Given the description of an element on the screen output the (x, y) to click on. 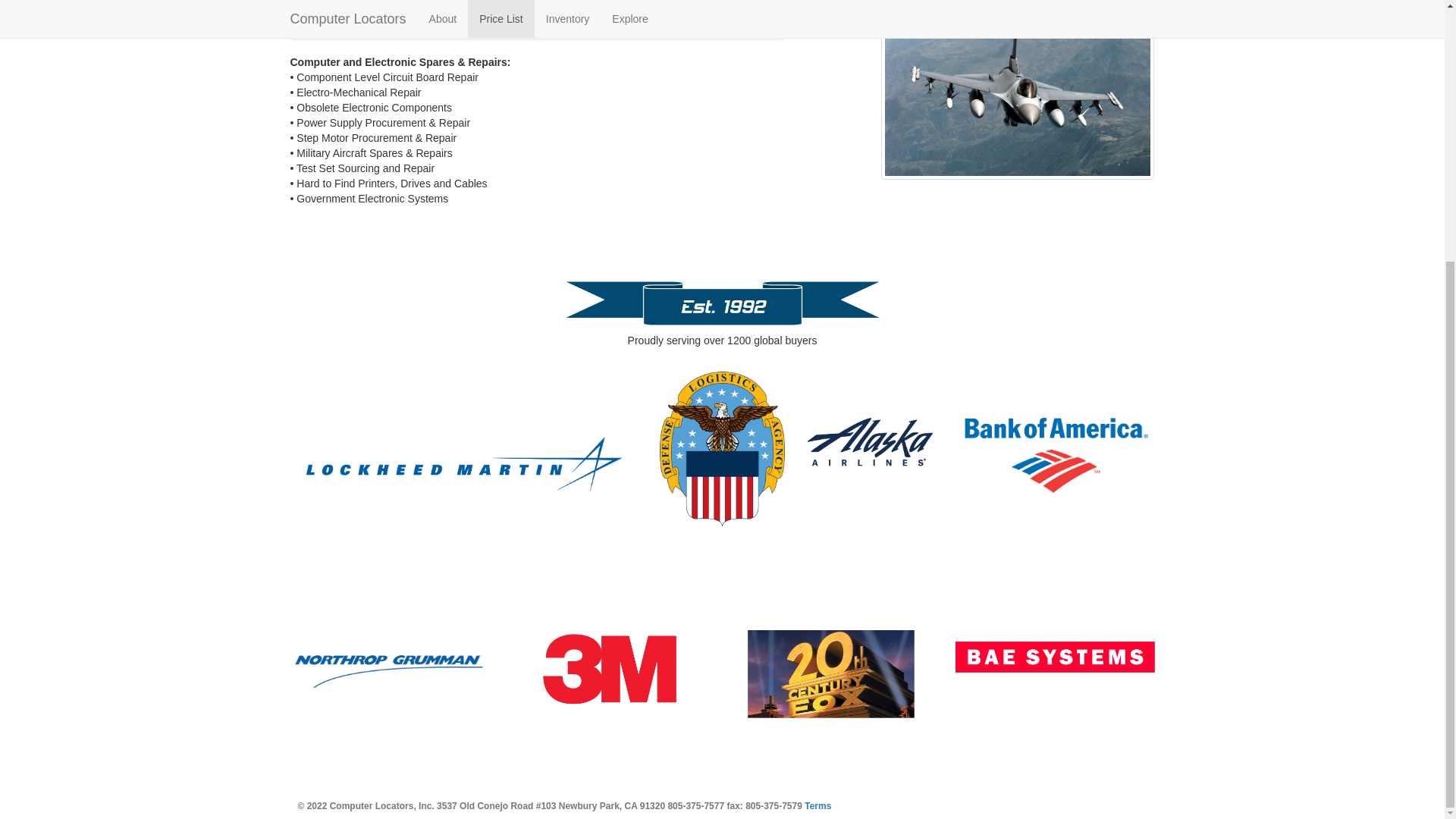
Terms (818, 805)
